Given the description of an element on the screen output the (x, y) to click on. 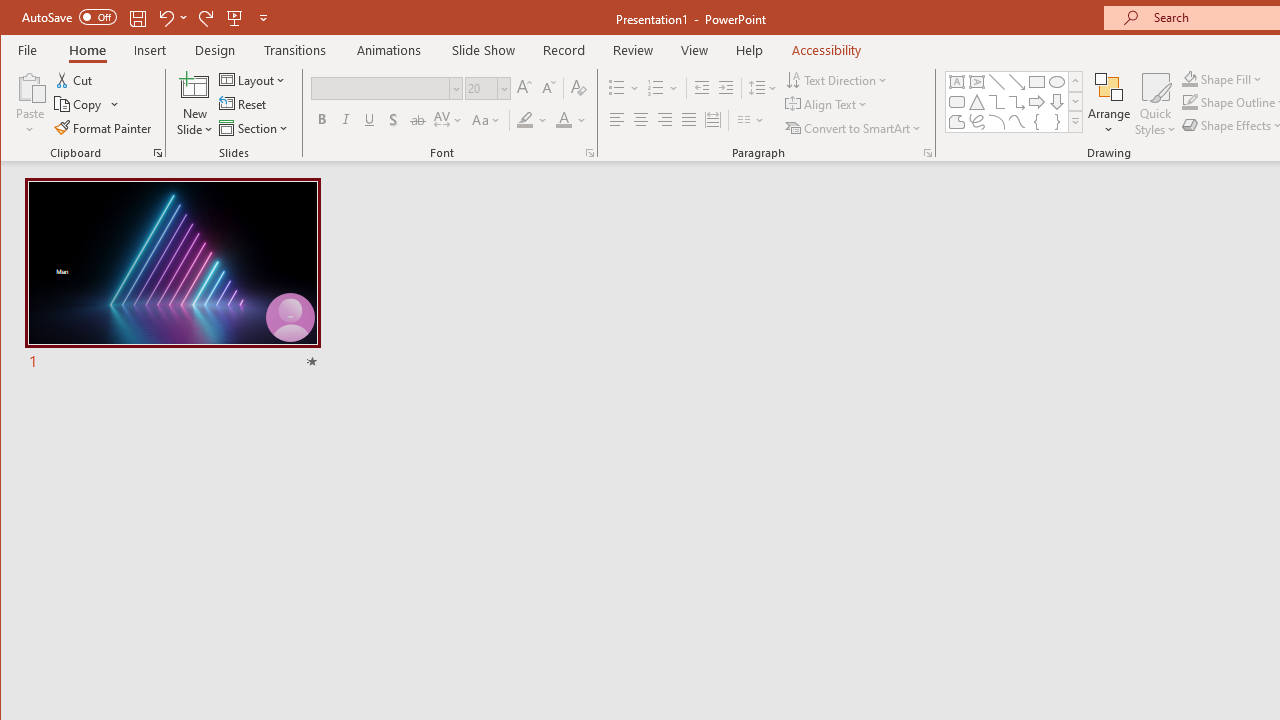
Isosceles Triangle (976, 102)
AutomationID: ShapesInsertGallery (1014, 102)
Font Color (571, 119)
Section (255, 127)
Rectangle (1036, 82)
Font Color Red (563, 119)
Arc (996, 121)
